Given the description of an element on the screen output the (x, y) to click on. 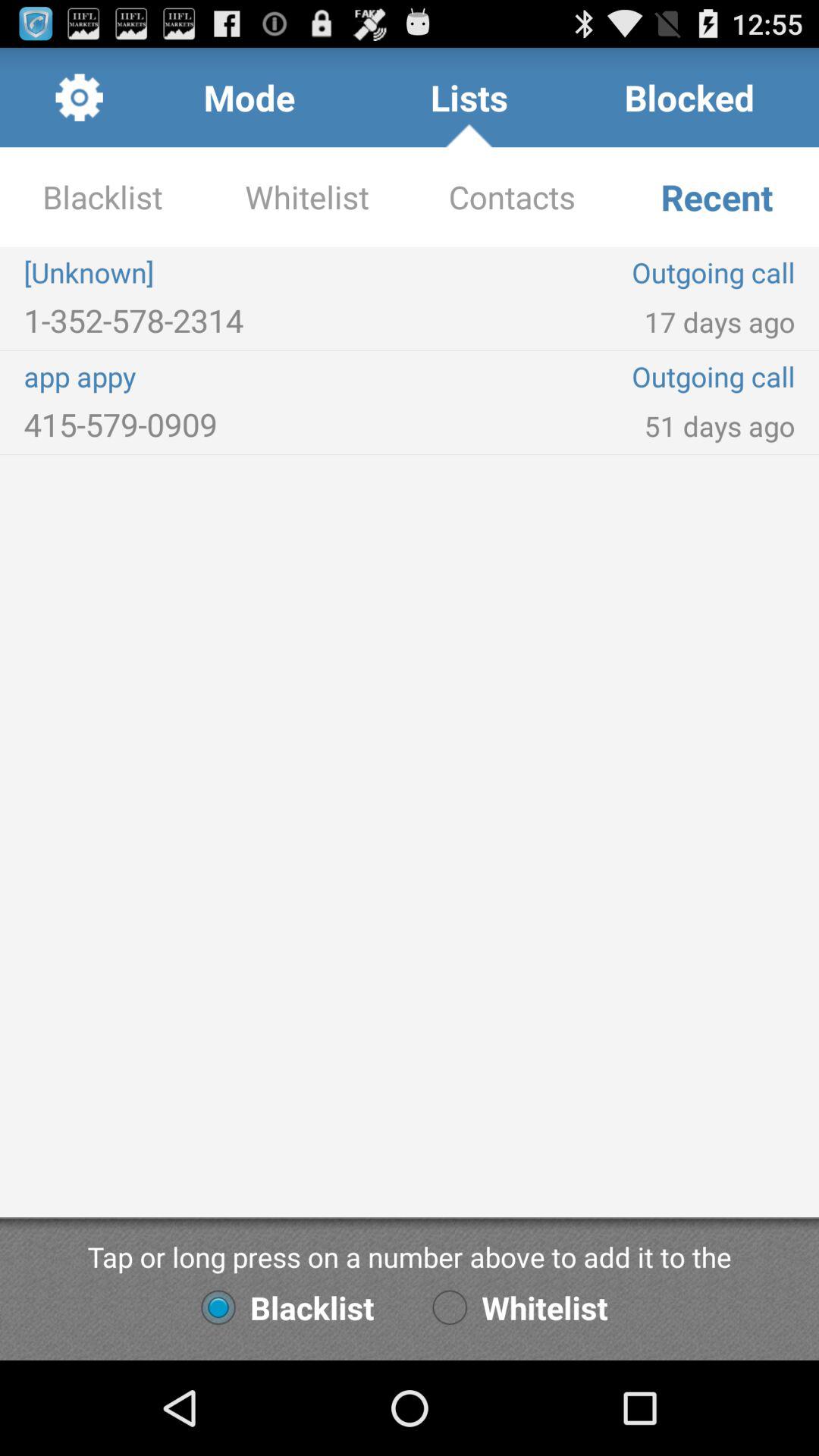
press icon next to recent app (511, 196)
